Given the description of an element on the screen output the (x, y) to click on. 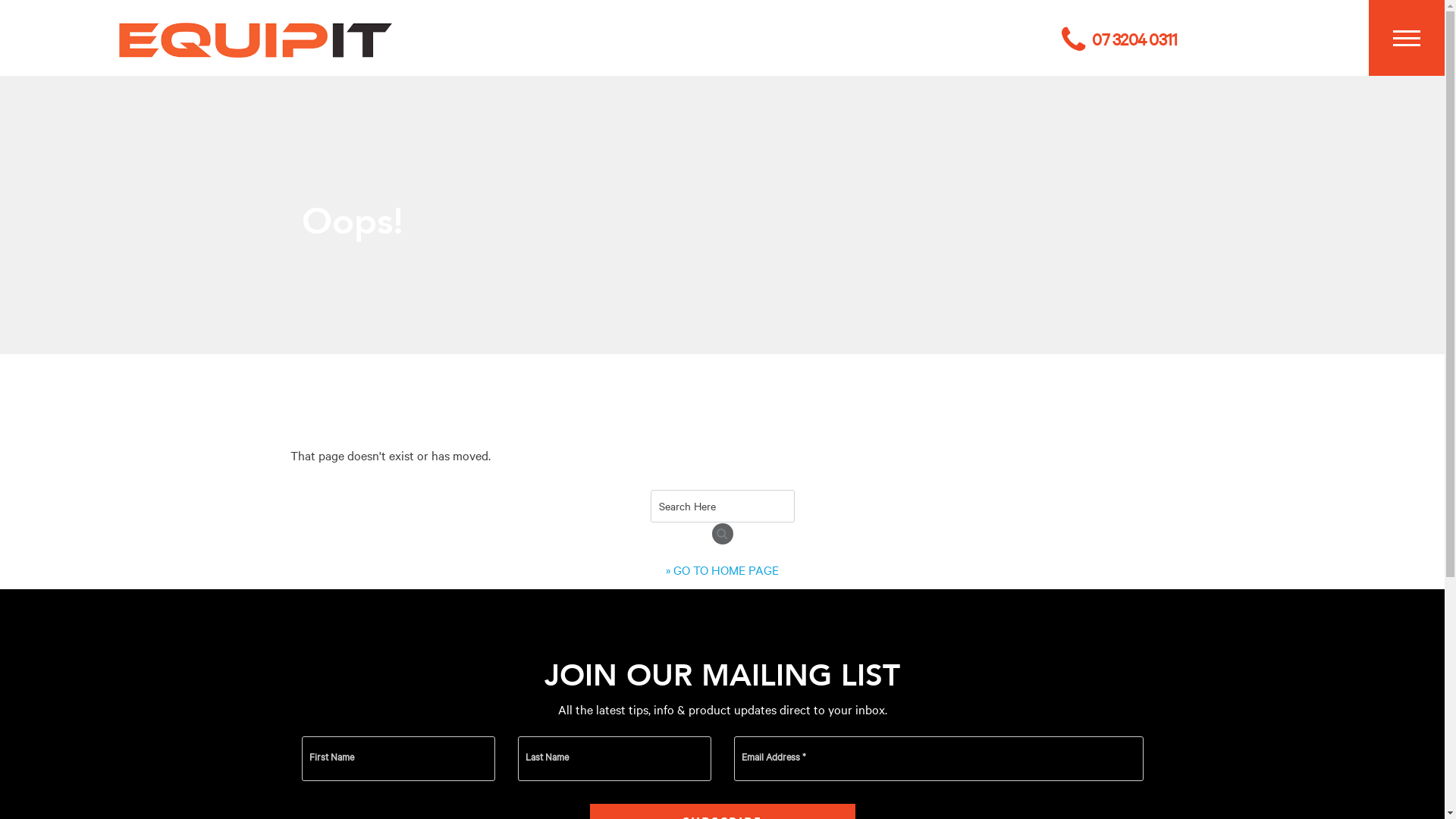
07 3204 0311 Element type: text (1118, 39)
